Given the description of an element on the screen output the (x, y) to click on. 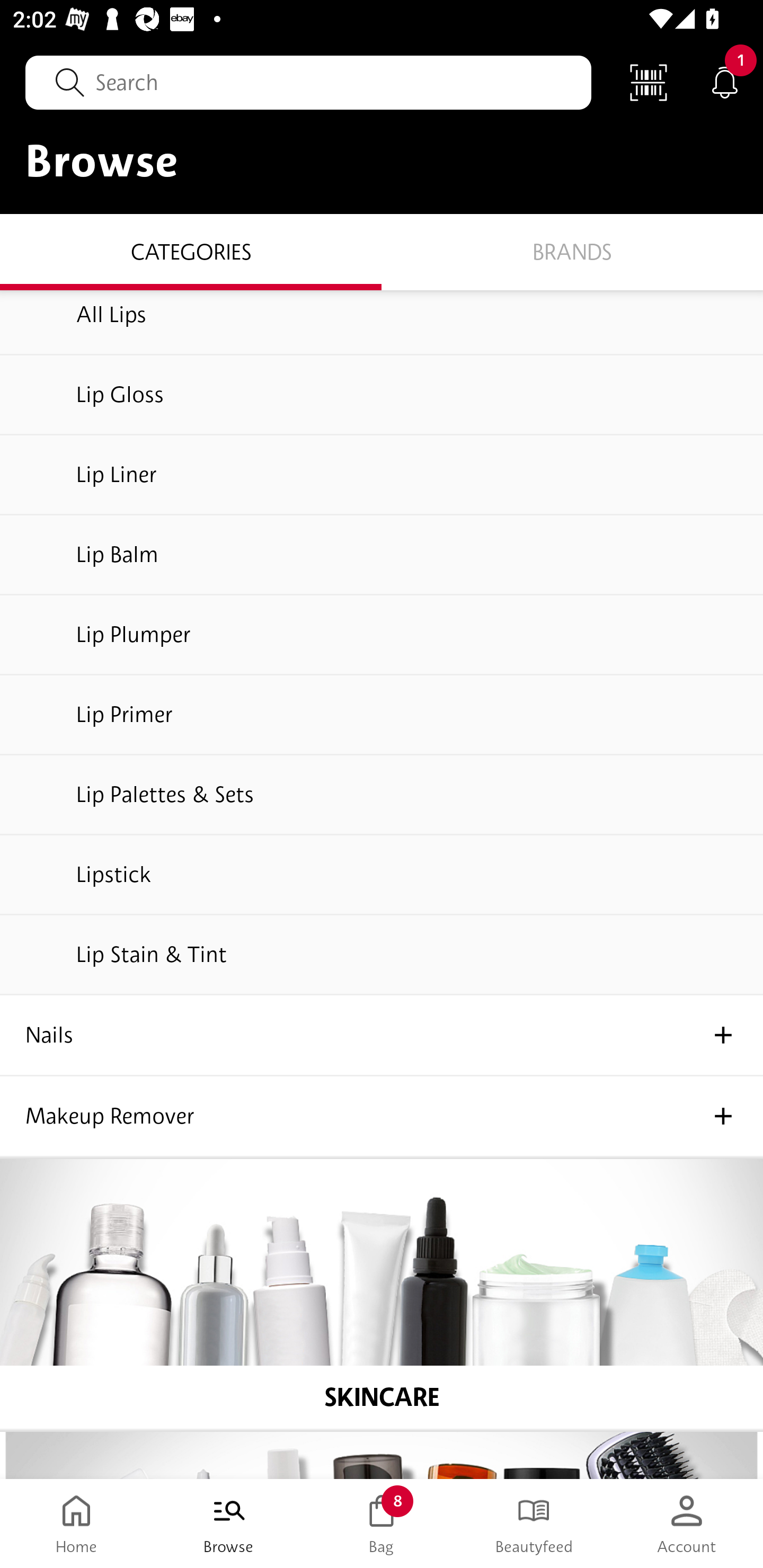
Scan Code (648, 81)
Notifications (724, 81)
Search (308, 81)
Brands BRANDS (572, 251)
All Lips (381, 322)
Lip Gloss (381, 395)
Lip Liner (381, 475)
Lip Balm (381, 555)
Lip Plumper (381, 635)
Lip Primer (381, 715)
Lip Palettes & Sets (381, 795)
Lipstick (381, 875)
Lip Stain & Tint (381, 955)
Nails (381, 1035)
Makeup Remover (381, 1116)
SKINCARE (381, 1294)
Home (76, 1523)
Bag 8 Bag (381, 1523)
Beautyfeed (533, 1523)
Account (686, 1523)
